Given the description of an element on the screen output the (x, y) to click on. 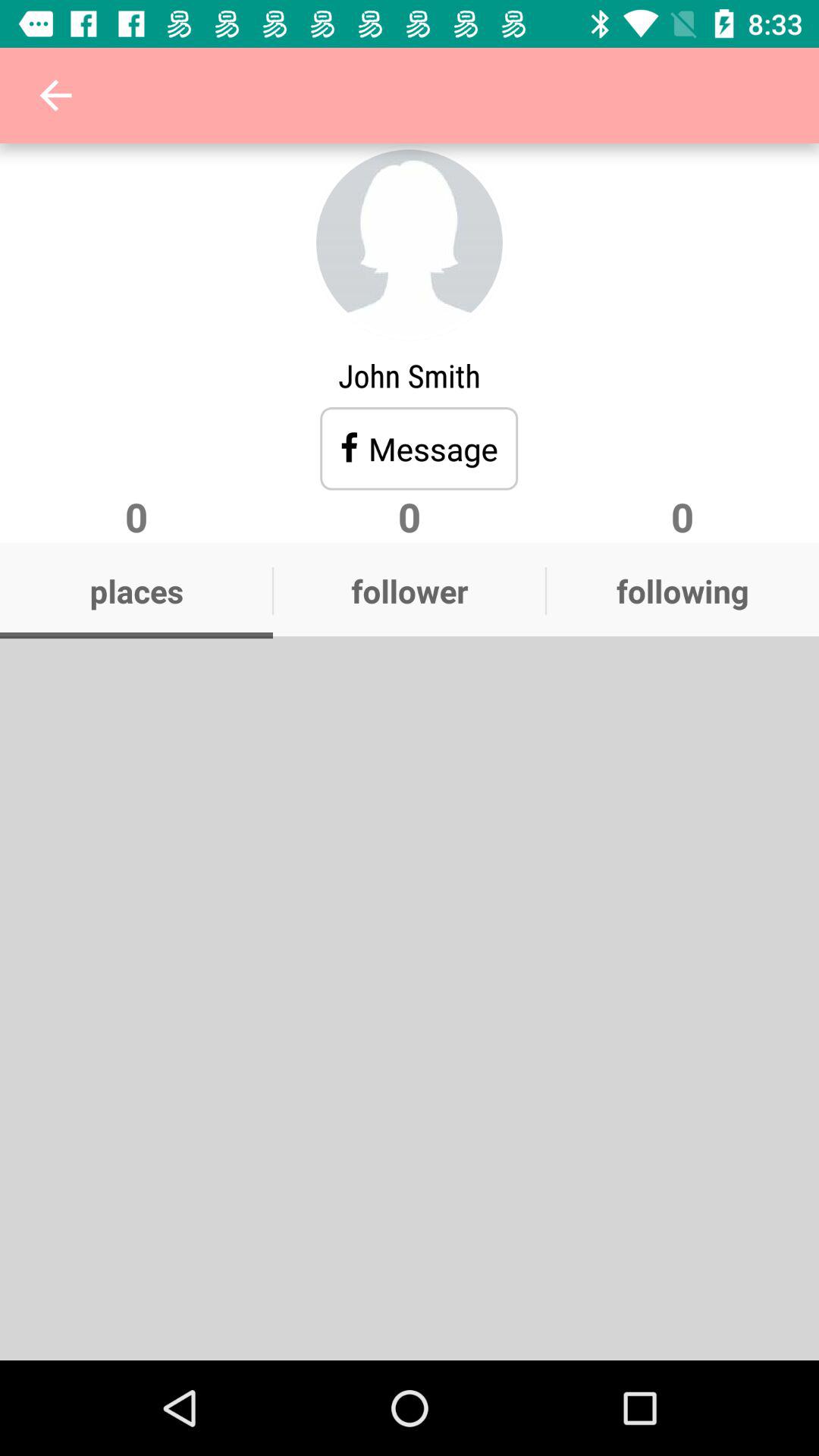
flip to places item (136, 590)
